Given the description of an element on the screen output the (x, y) to click on. 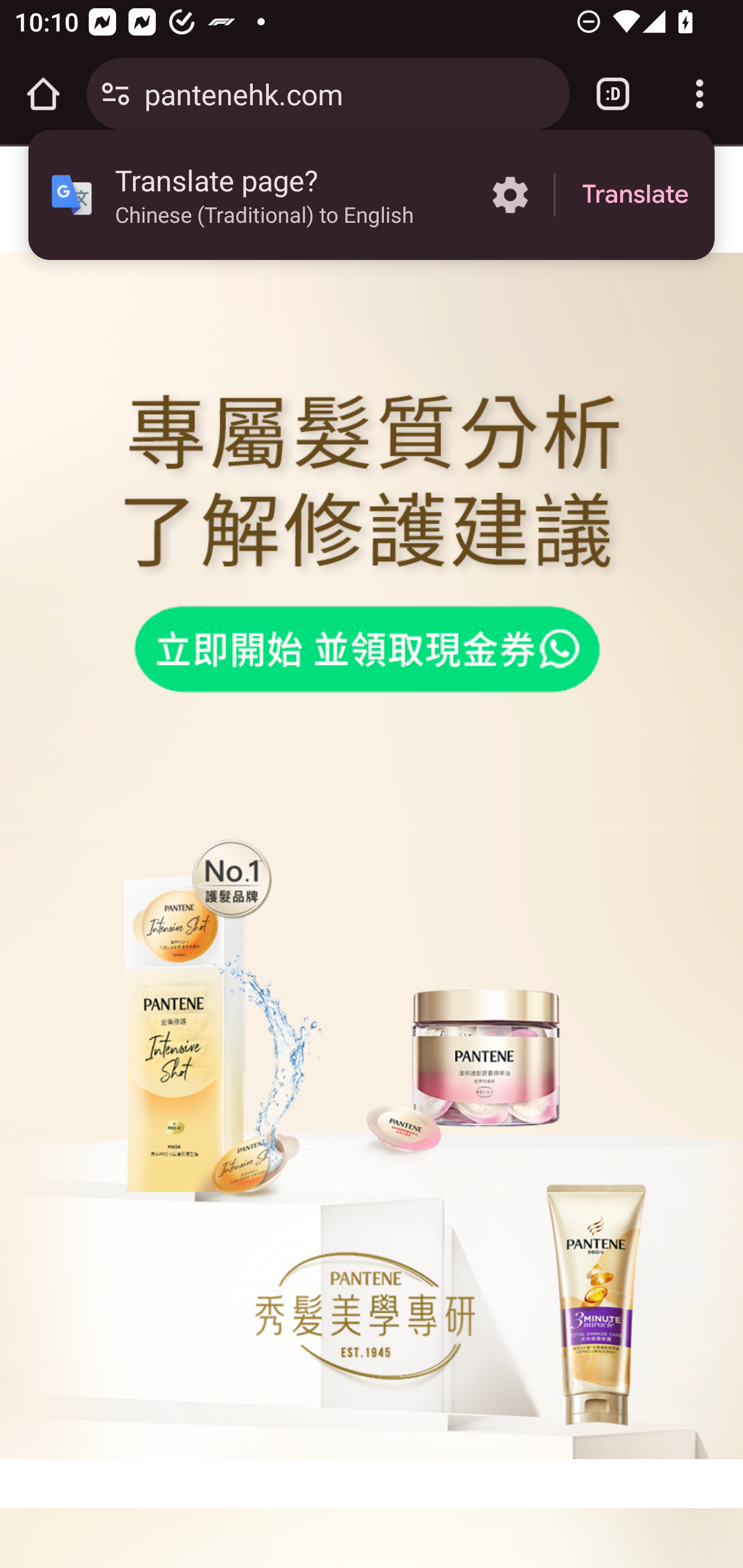
Open the home page (43, 93)
Connection is secure (115, 93)
Switch or close tabs (612, 93)
Customize and control Google Chrome (699, 93)
pantenehk.com (349, 92)
Translate (634, 195)
More options in the Translate page? (509, 195)
3分鐘奇蹟護髮 (384, 643)
